Given the description of an element on the screen output the (x, y) to click on. 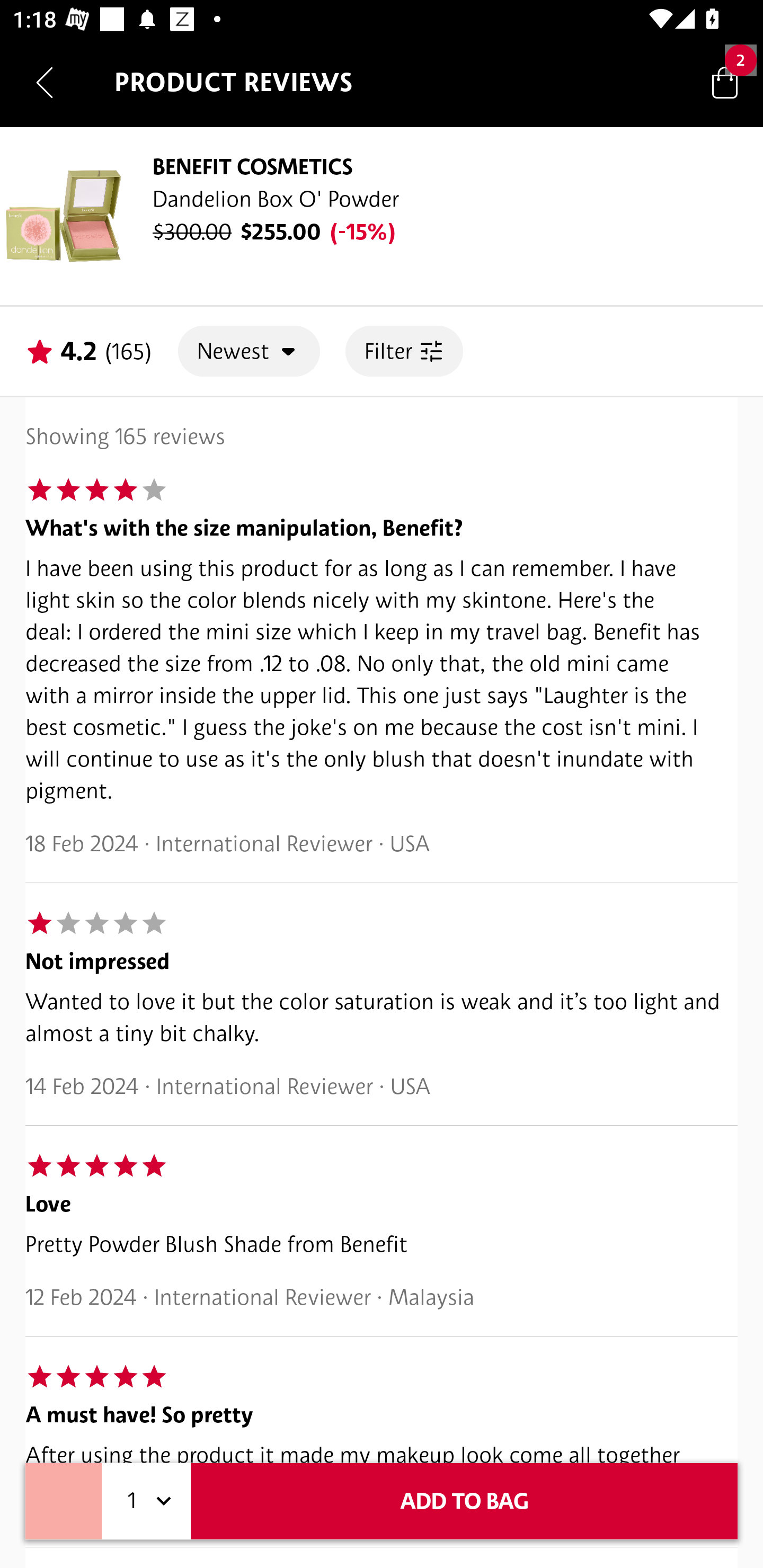
Navigate up (44, 82)
Bag (724, 81)
Newest (248, 351)
Filter (404, 351)
1 (145, 1500)
ADD TO BAG (463, 1500)
